Given the description of an element on the screen output the (x, y) to click on. 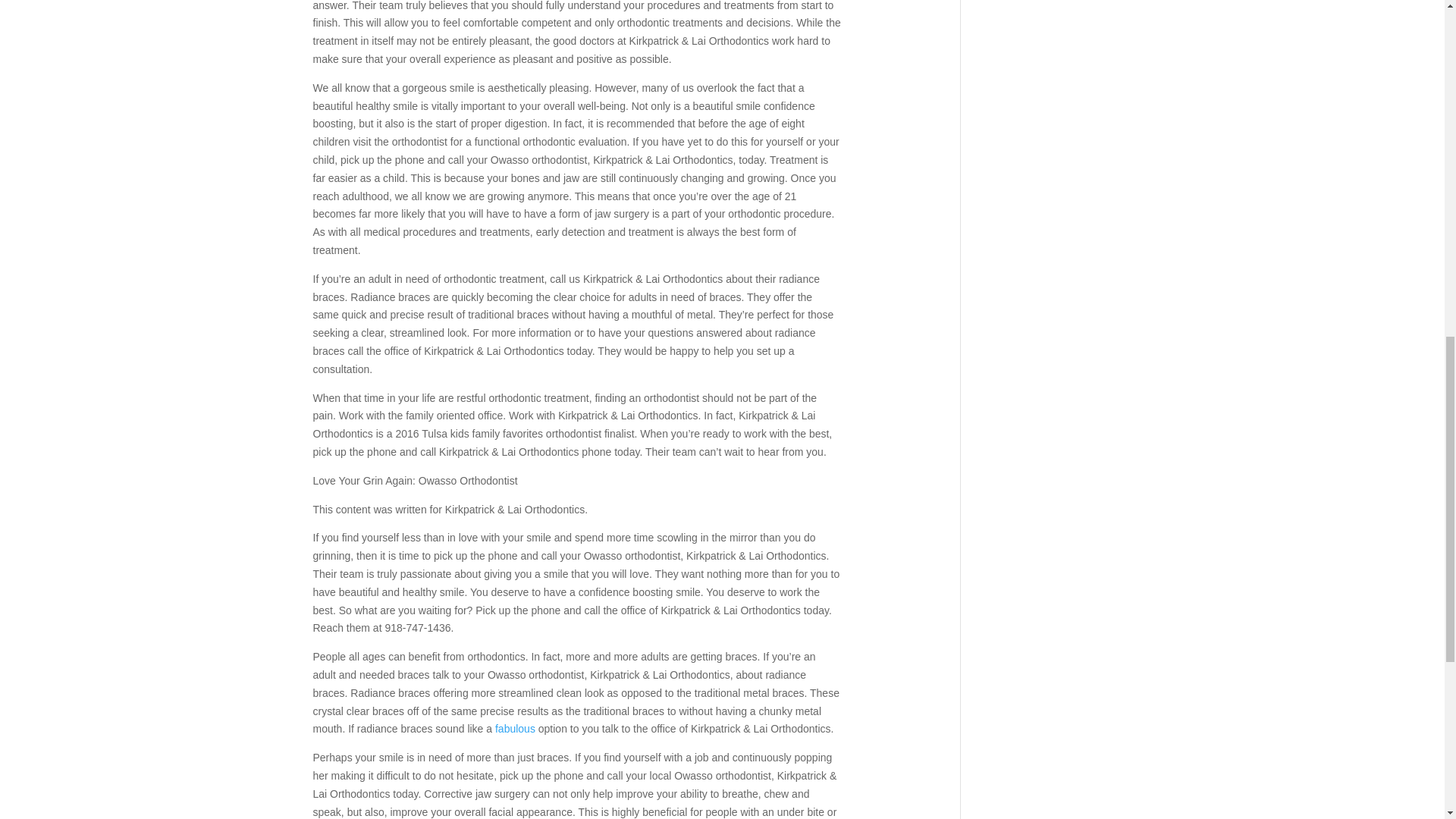
fabulous (515, 728)
